Given the description of an element on the screen output the (x, y) to click on. 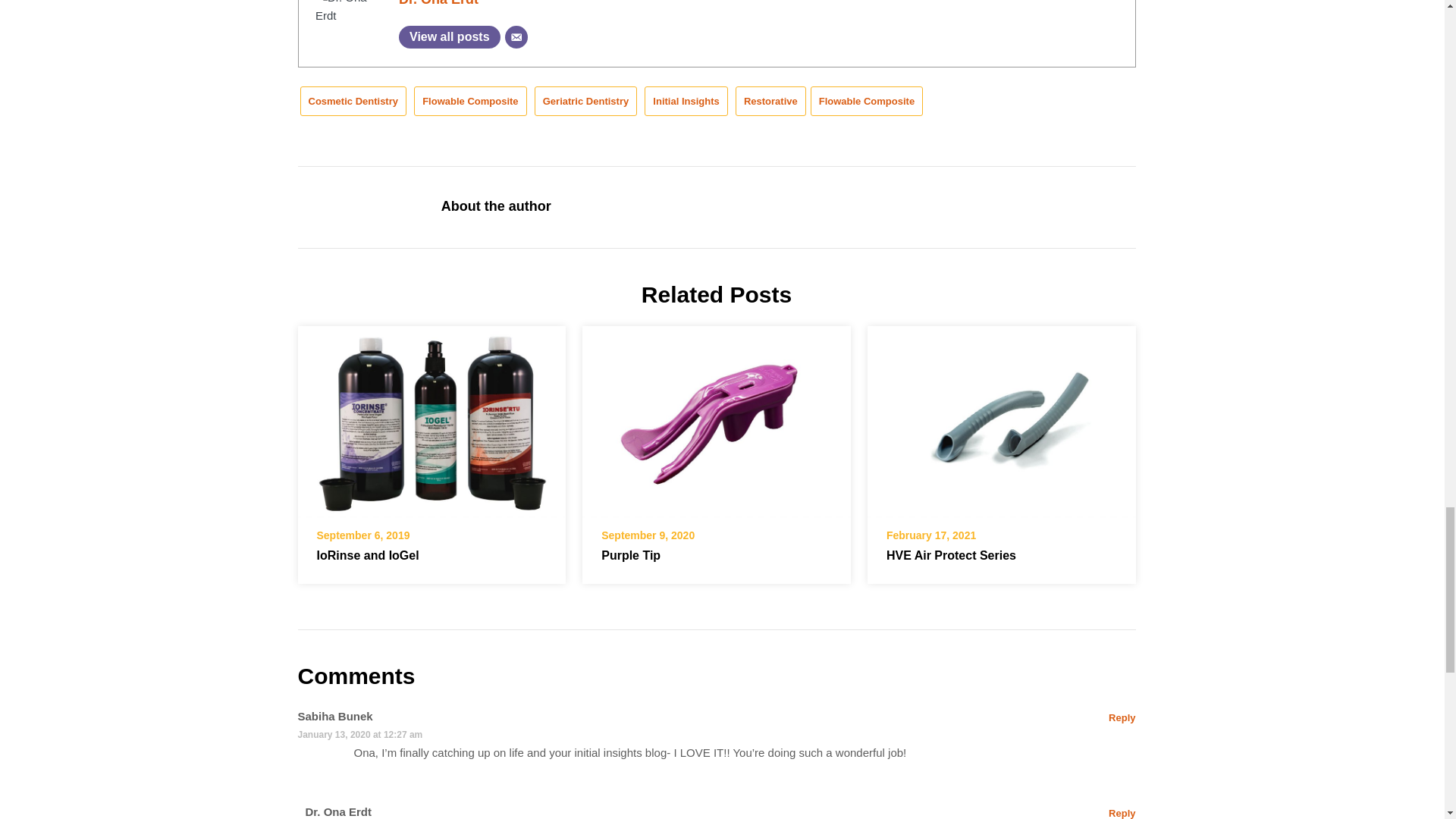
Flowable Composite (866, 101)
HVE Air Protect Series (951, 554)
IoRinse and IoGel (431, 416)
Dr. Ona Erdt (438, 3)
Purple Tip (631, 554)
Restorative (770, 101)
Dr. Ona Erdt (438, 3)
Initial Insights (685, 101)
Flowable Composite (469, 101)
View all posts (449, 36)
Purple Tip (716, 416)
Reply (1121, 717)
IoRinse and IoGel (368, 554)
Geriatric Dentistry (585, 101)
HVE Air Protect Series (1001, 416)
